Given the description of an element on the screen output the (x, y) to click on. 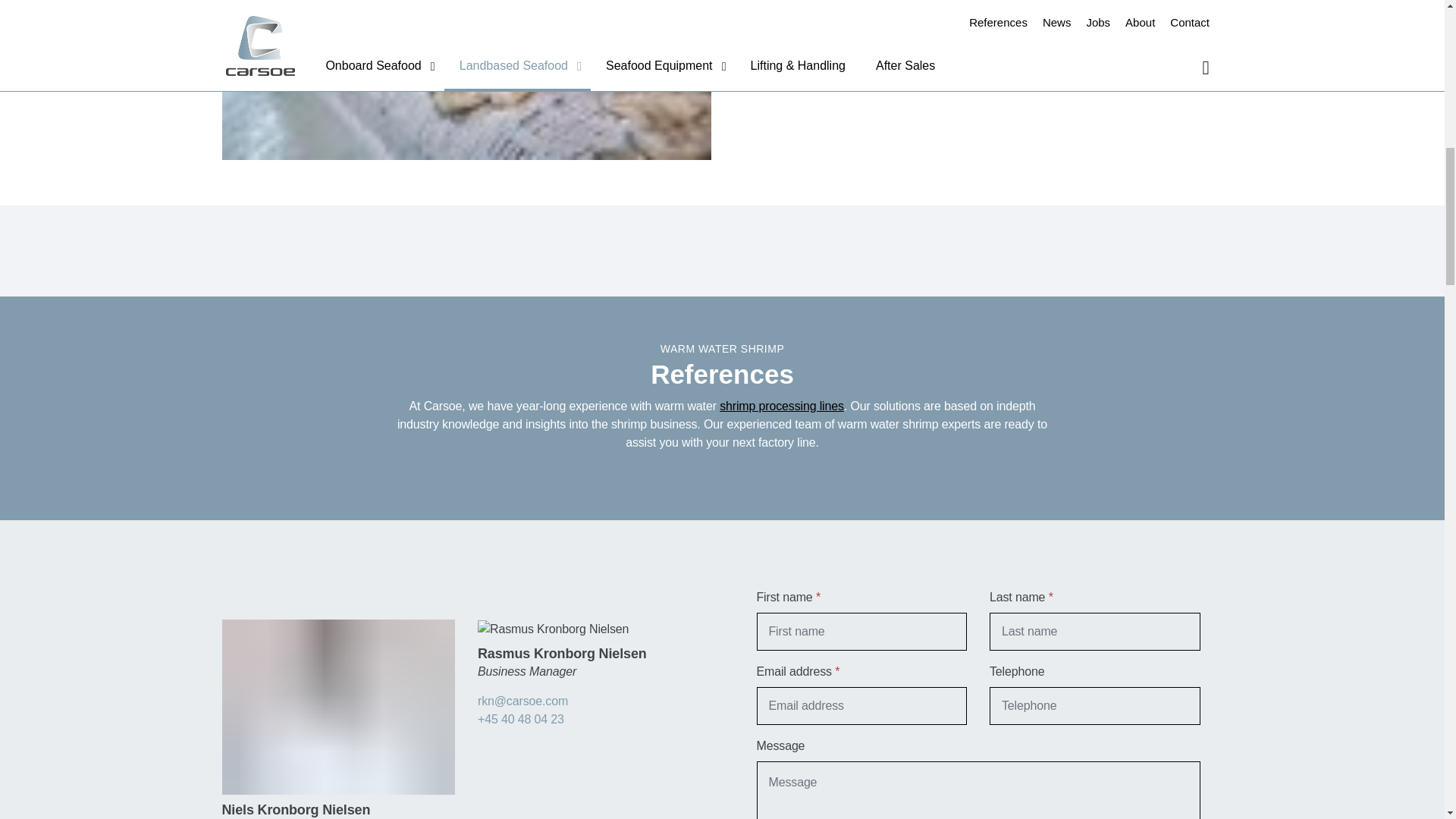
shrimp processing lines (781, 405)
